Given the description of an element on the screen output the (x, y) to click on. 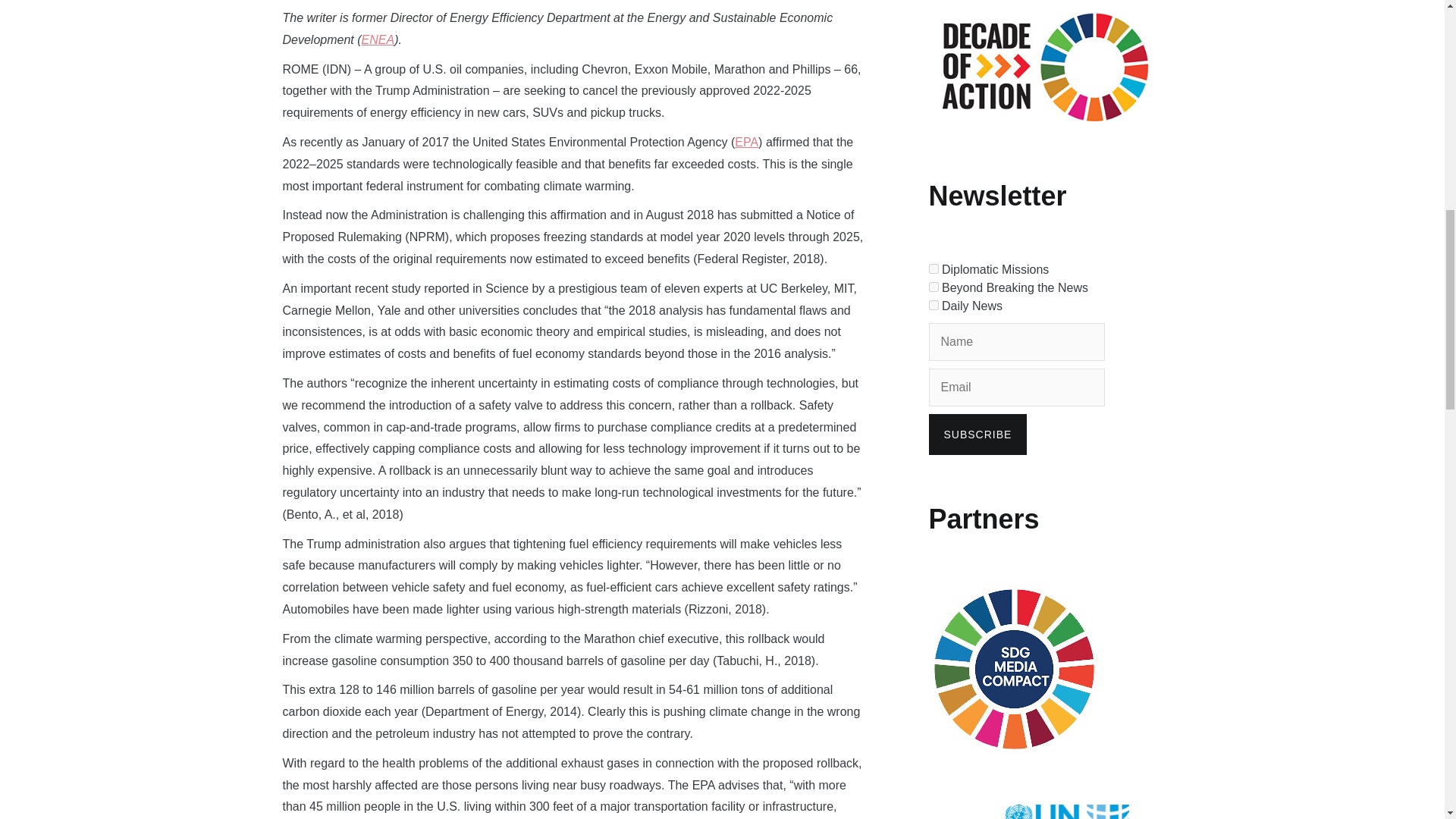
8 (932, 268)
9 (932, 286)
10 (932, 305)
Subscribe (977, 434)
